Given the description of an element on the screen output the (x, y) to click on. 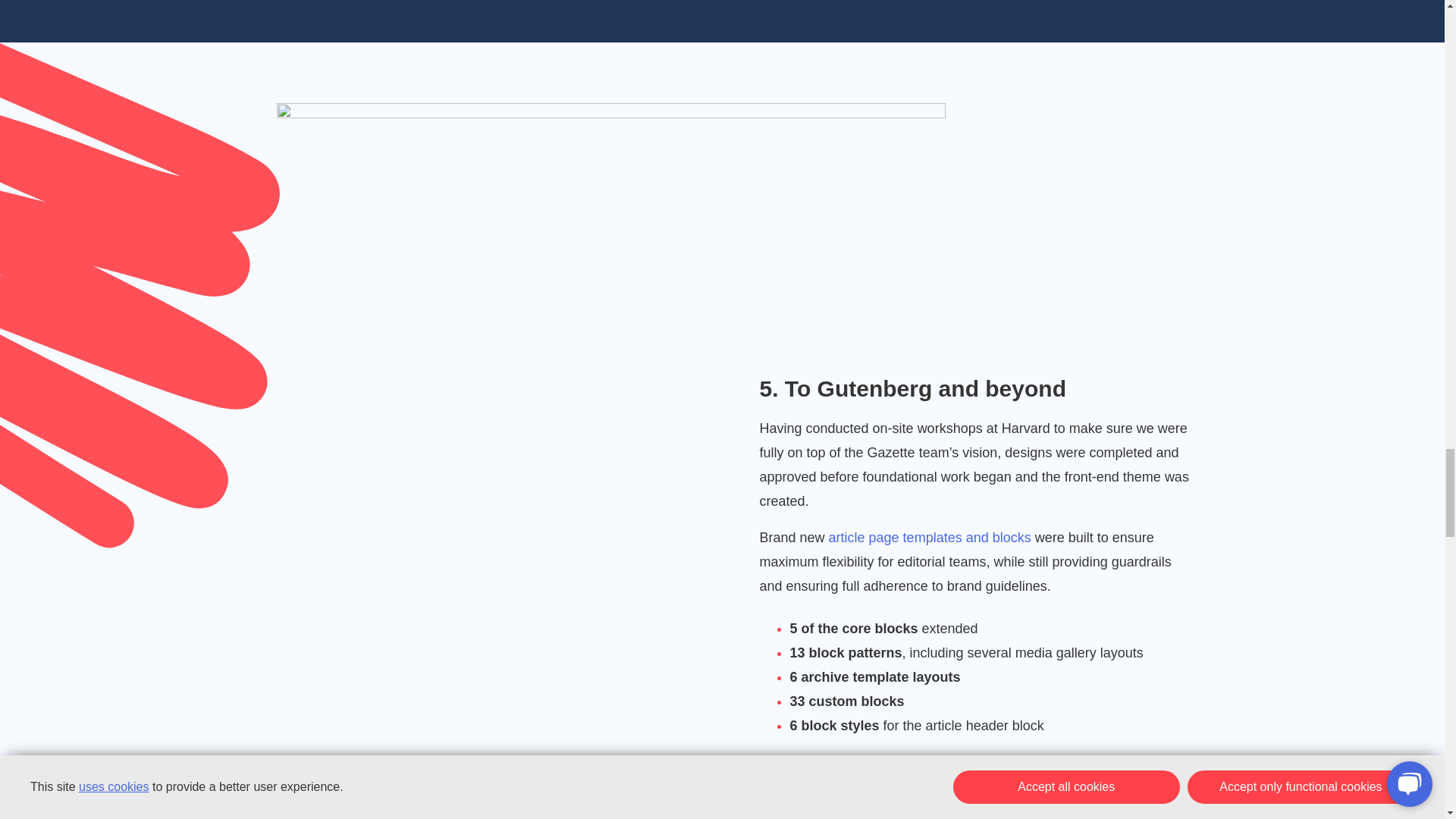
article page templates and blocks (929, 537)
